Given the description of an element on the screen output the (x, y) to click on. 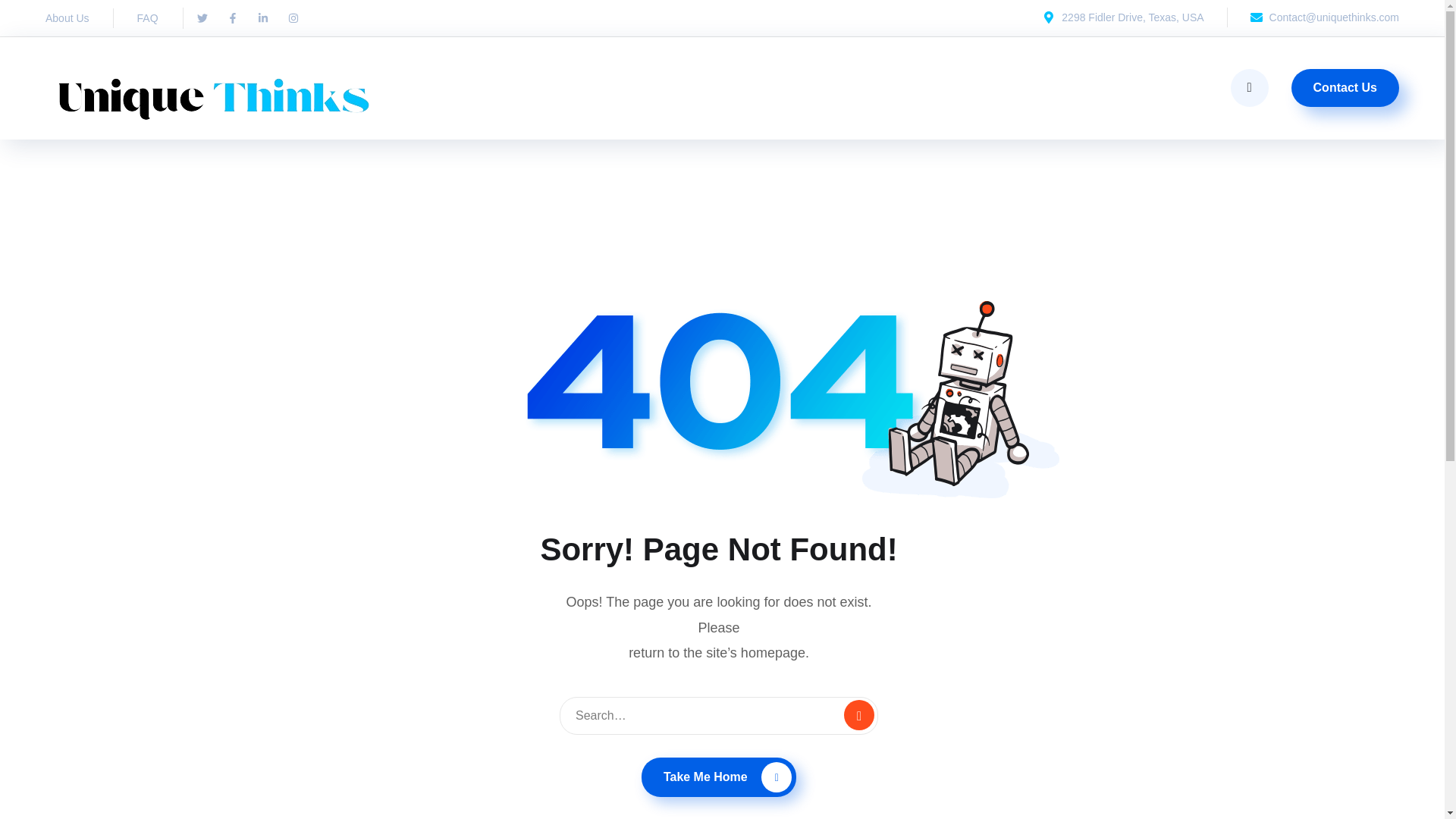
Contact Us (1345, 87)
About Us (66, 17)
FAQ (147, 17)
Take Me Home (719, 776)
2298 Fidler Drive, Texas, USA (1123, 17)
